Given the description of an element on the screen output the (x, y) to click on. 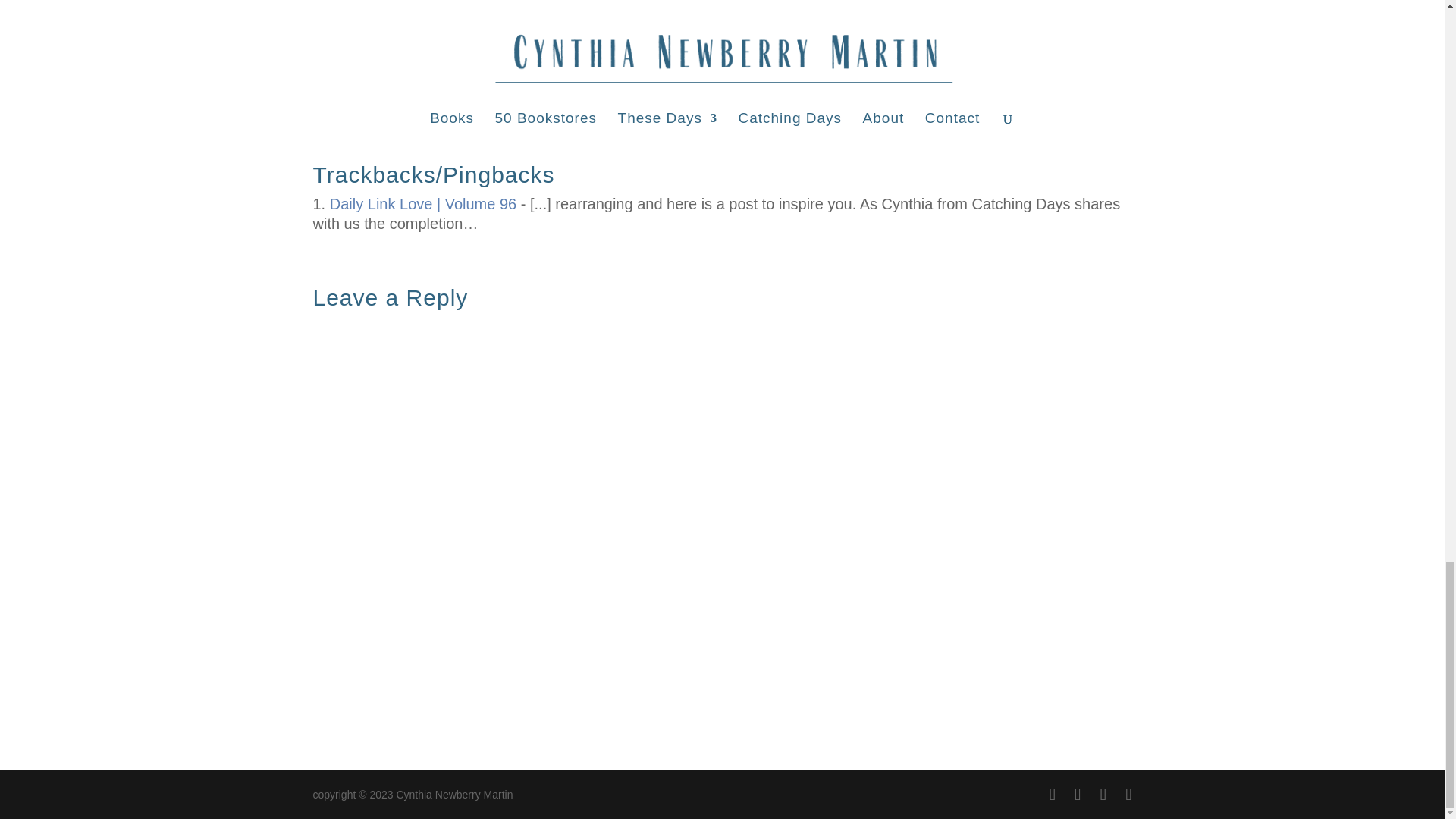
Reply (1112, 60)
cynthia (485, 56)
